Given the description of an element on the screen output the (x, y) to click on. 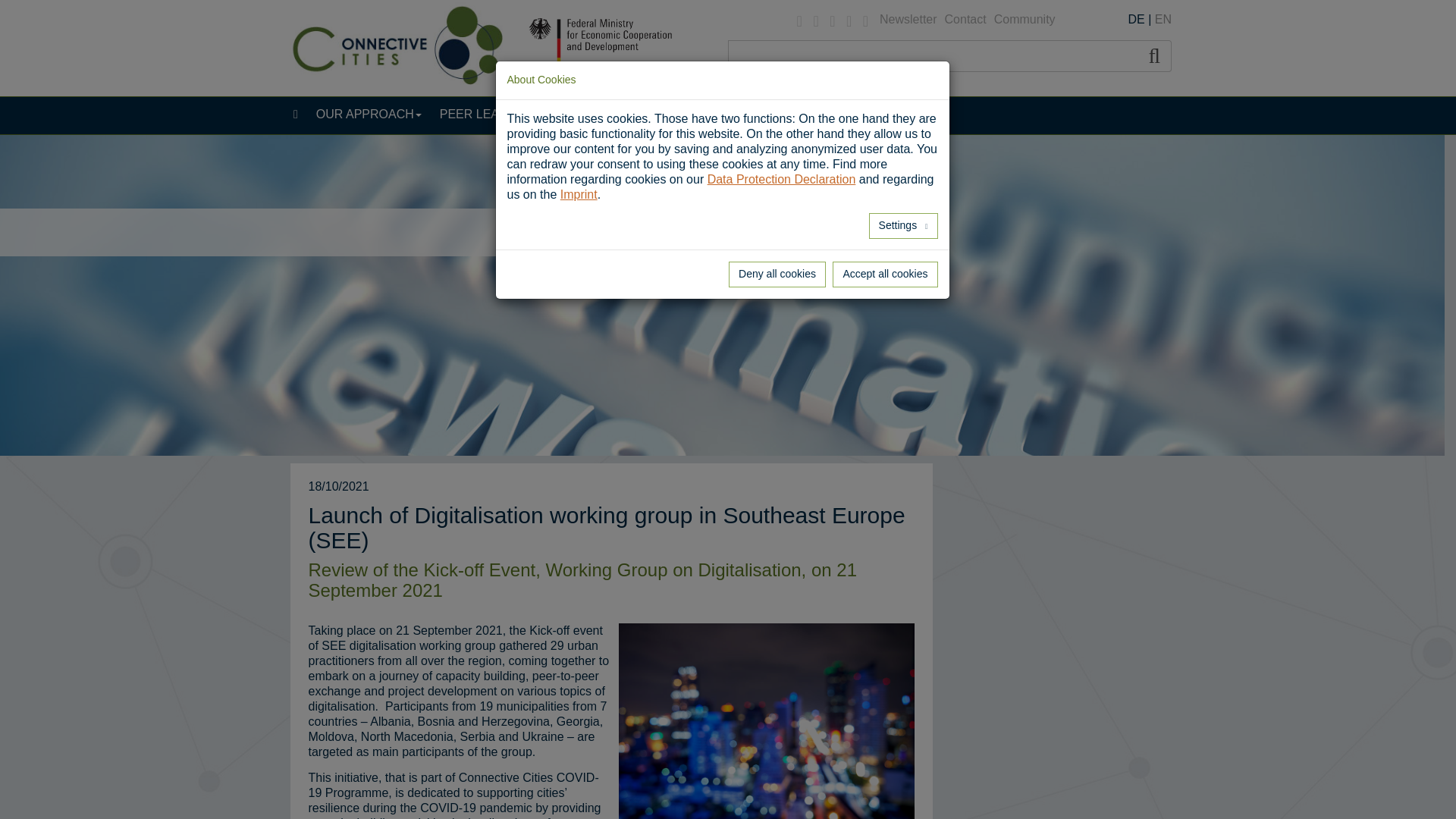
MEDIA CENTRE (771, 114)
BMZ (617, 48)
Contact (965, 19)
TOPICS (677, 114)
OUR APPROACH (368, 114)
NETWORK (598, 114)
PEER LEARNING (492, 114)
Newsletter (908, 19)
Community (1024, 19)
DE (1135, 19)
